Given the description of an element on the screen output the (x, y) to click on. 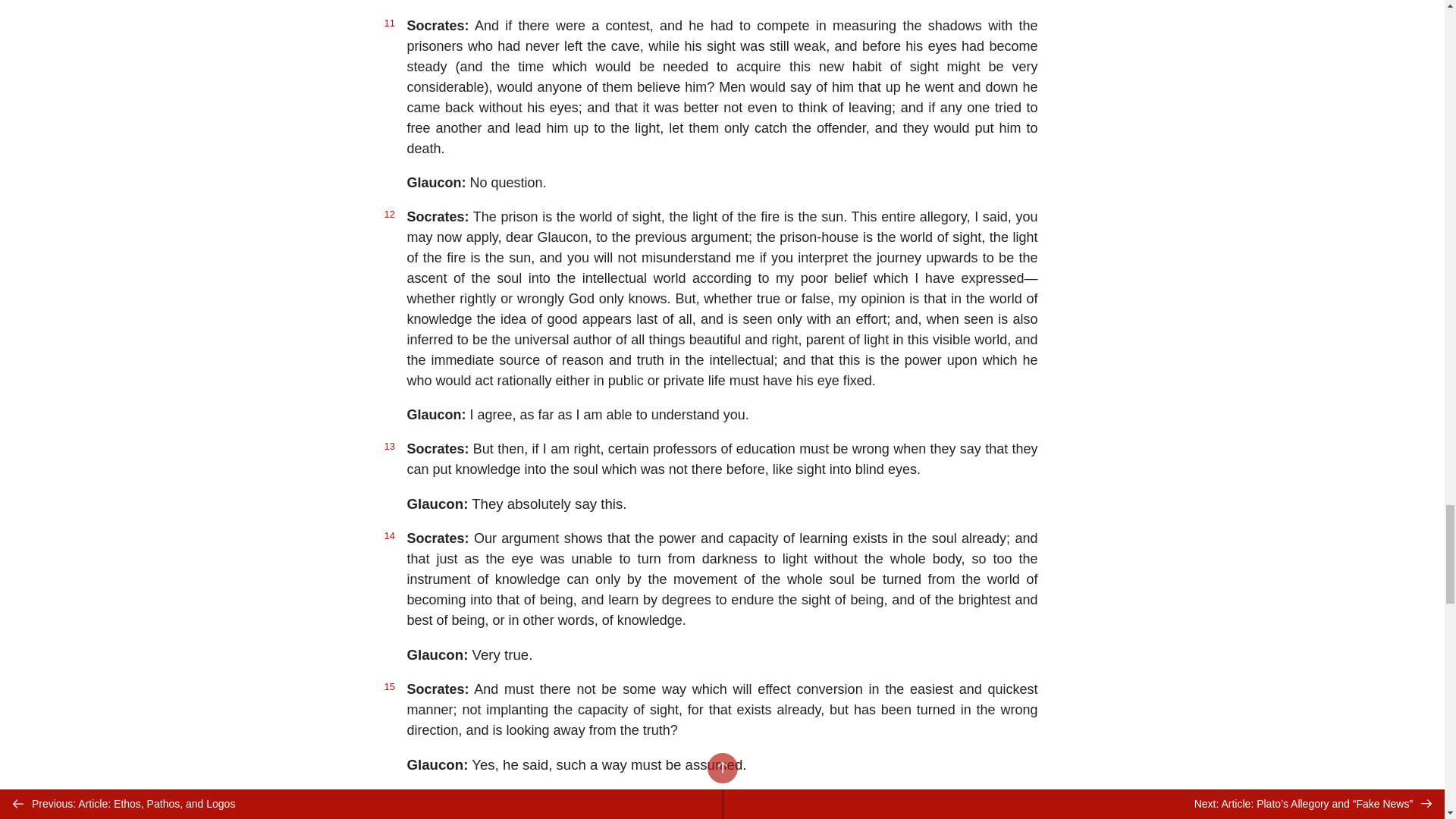
Page 37 (721, 7)
